Given the description of an element on the screen output the (x, y) to click on. 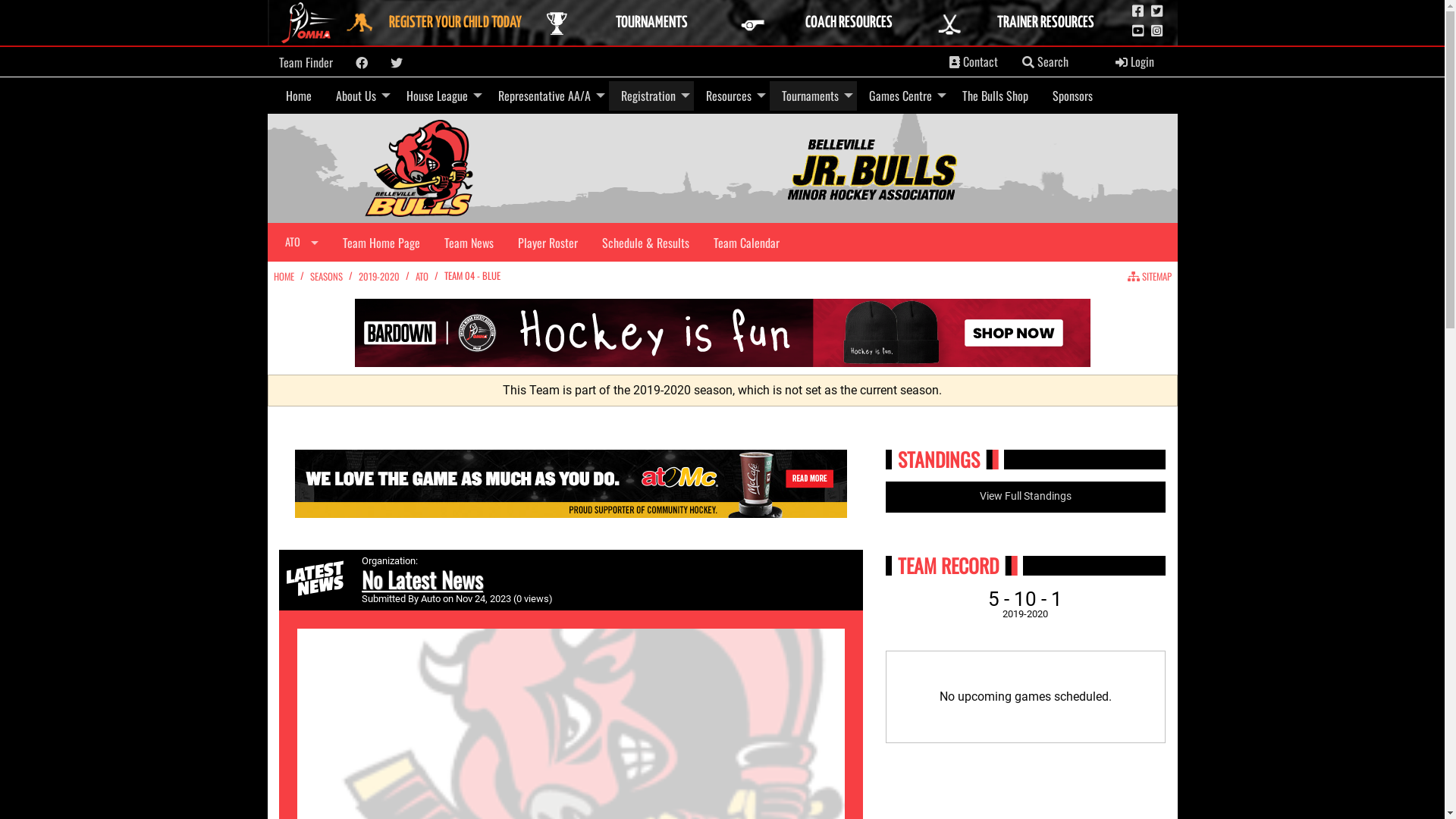
OMHA Instagram Page Element type: hover (1156, 30)
ATO Element type: text (301, 241)
OMHA Facebook Page Element type: hover (1136, 11)
Sponsors Element type: text (1072, 95)
5 - 10 - 1 Element type: text (1025, 598)
Team Home Page Element type: text (381, 241)
HOME Element type: text (283, 276)
OMHA YouTube Channel Element type: hover (1136, 30)
The Bulls Shop Element type: text (994, 95)
Contacts Element type: hover (954, 62)
Facebook Element type: hover (360, 62)
COACH RESOURCES Element type: text (832, 22)
SEASONS Element type: text (325, 276)
 Search Element type: text (1045, 61)
ATO Element type: text (421, 276)
Team Finder Element type: text (305, 62)
Tournaments Element type: text (812, 95)
Resources Element type: text (730, 95)
Registration Element type: text (650, 95)
Search Element type: hover (1028, 62)
Twitter Element type: hover (395, 62)
Representative AA/A Element type: text (546, 95)
About Us Element type: text (358, 95)
Team News Element type: text (468, 241)
Team Calendar Element type: text (746, 241)
 Contact Element type: text (973, 61)
 SITEMAP Element type: text (1148, 276)
View Full Standings Element type: text (1025, 496)
House League Element type: text (440, 95)
 Login Element type: text (1133, 61)
2019-2020 Element type: text (377, 276)
Home Element type: text (298, 95)
TOURNAMENTS Element type: text (635, 22)
3rd party ad content Element type: hover (722, 332)
Games Centre Element type: text (903, 95)
REGISTER YOUR CHILD TODAY Element type: text (438, 22)
TRAINER RESOURCES Element type: text (1029, 22)
Player Roster Element type: text (547, 241)
No Latest News Element type: text (422, 579)
OMHA Twitter Account Element type: hover (1156, 11)
Link to OMHA Website Element type: hover (310, 22)
Schedule & Results Element type: text (645, 241)
